Given the description of an element on the screen output the (x, y) to click on. 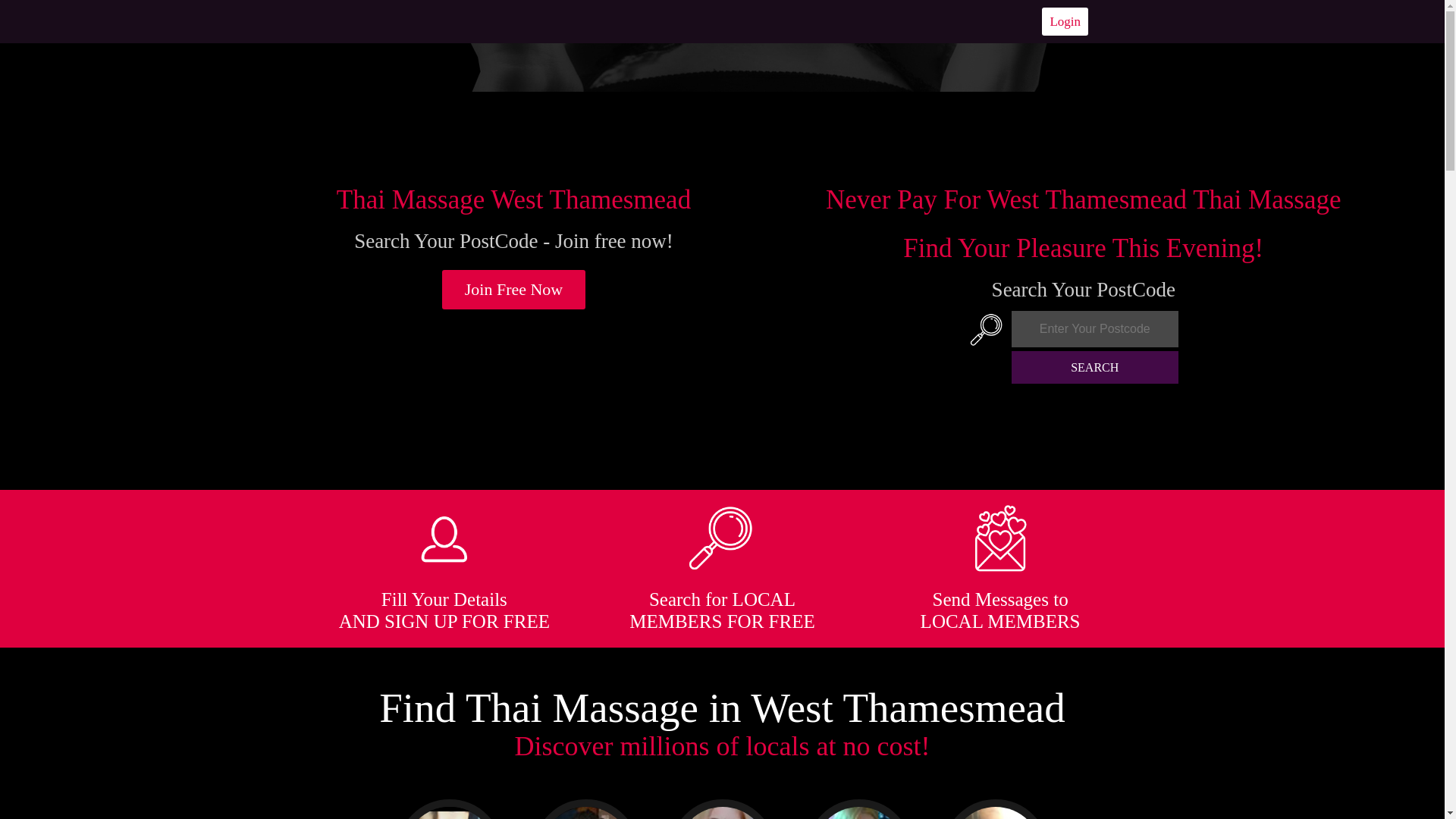
Join (514, 289)
SEARCH (1094, 367)
Join Free Now (514, 289)
Login (1064, 21)
Login (1064, 21)
